Given the description of an element on the screen output the (x, y) to click on. 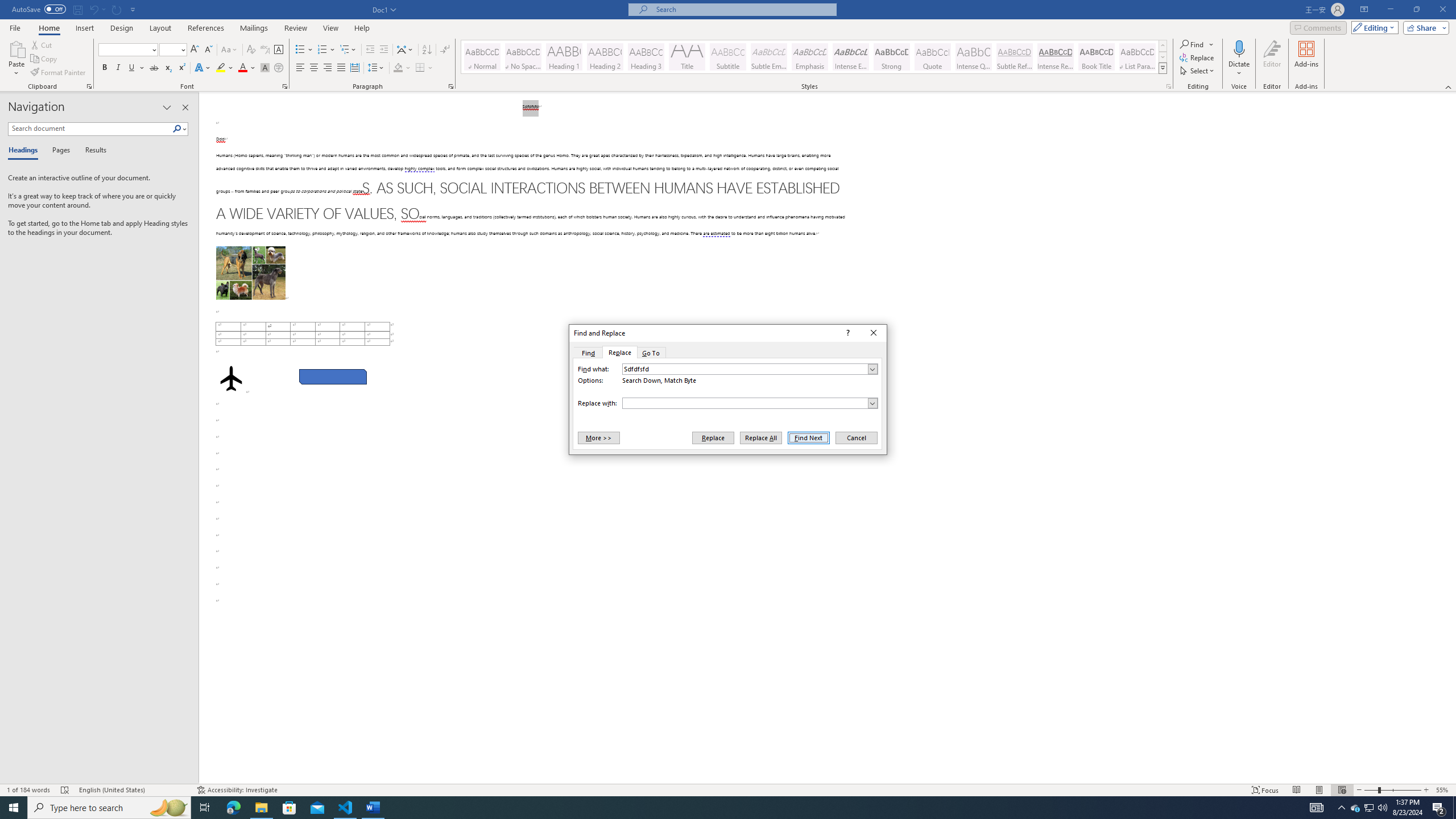
Styles (1162, 67)
Language English (United States) (132, 790)
Copy (45, 58)
Cut (42, 44)
Heading 1 (564, 56)
Class: NetUIImage (1162, 68)
Justify (340, 67)
Font Size (169, 49)
Shading (402, 67)
Mode (1372, 27)
Phonetic Guide... (264, 49)
Intense Quote (973, 56)
Decrease Indent (370, 49)
Close pane (185, 107)
